Given the description of an element on the screen output the (x, y) to click on. 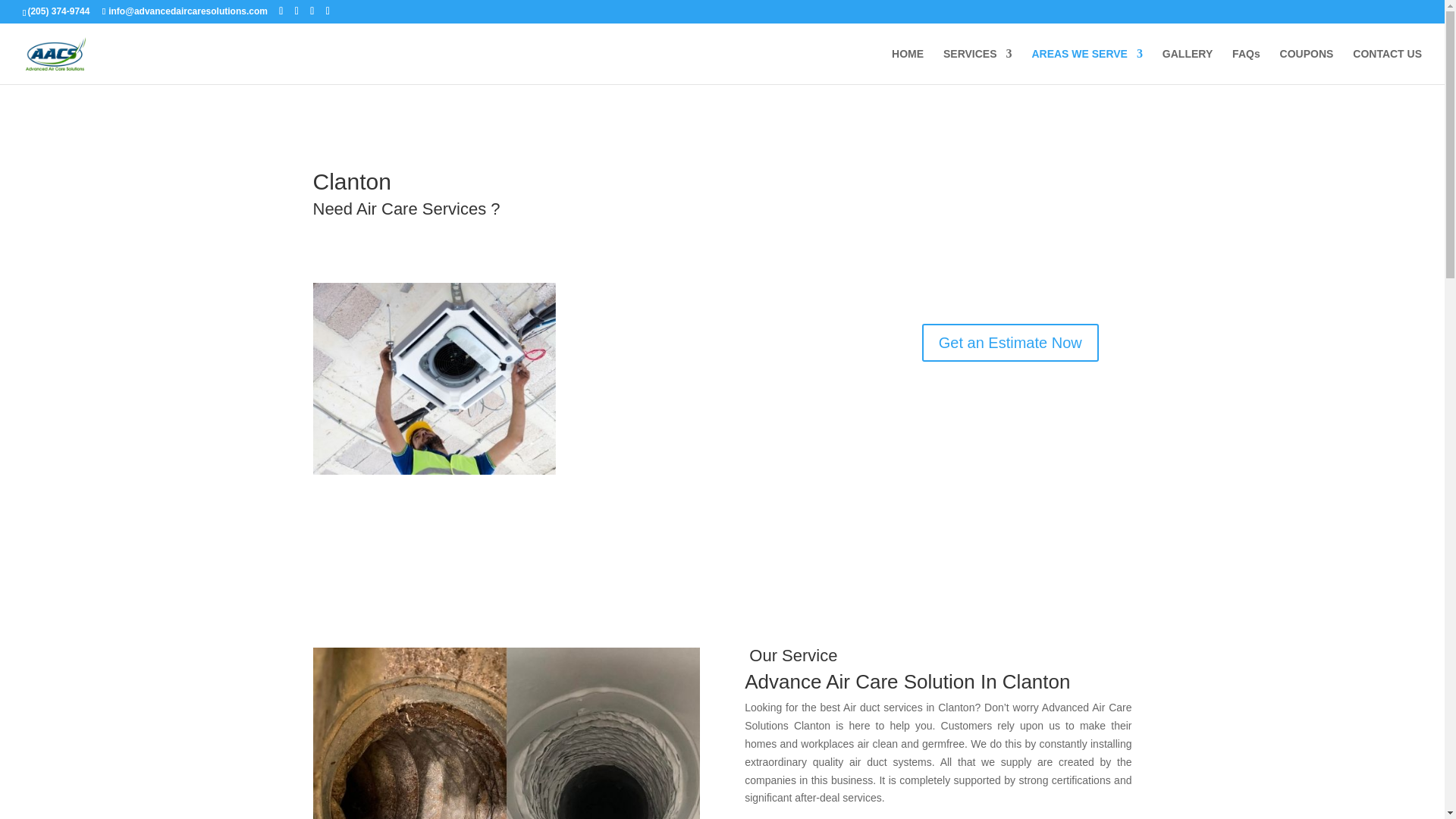
HOME (907, 66)
AREAS WE SERVE (1086, 66)
Untitled design - 2020-12-28T180527.701 (433, 378)
SERVICES (977, 66)
Before (505, 733)
